Given the description of an element on the screen output the (x, y) to click on. 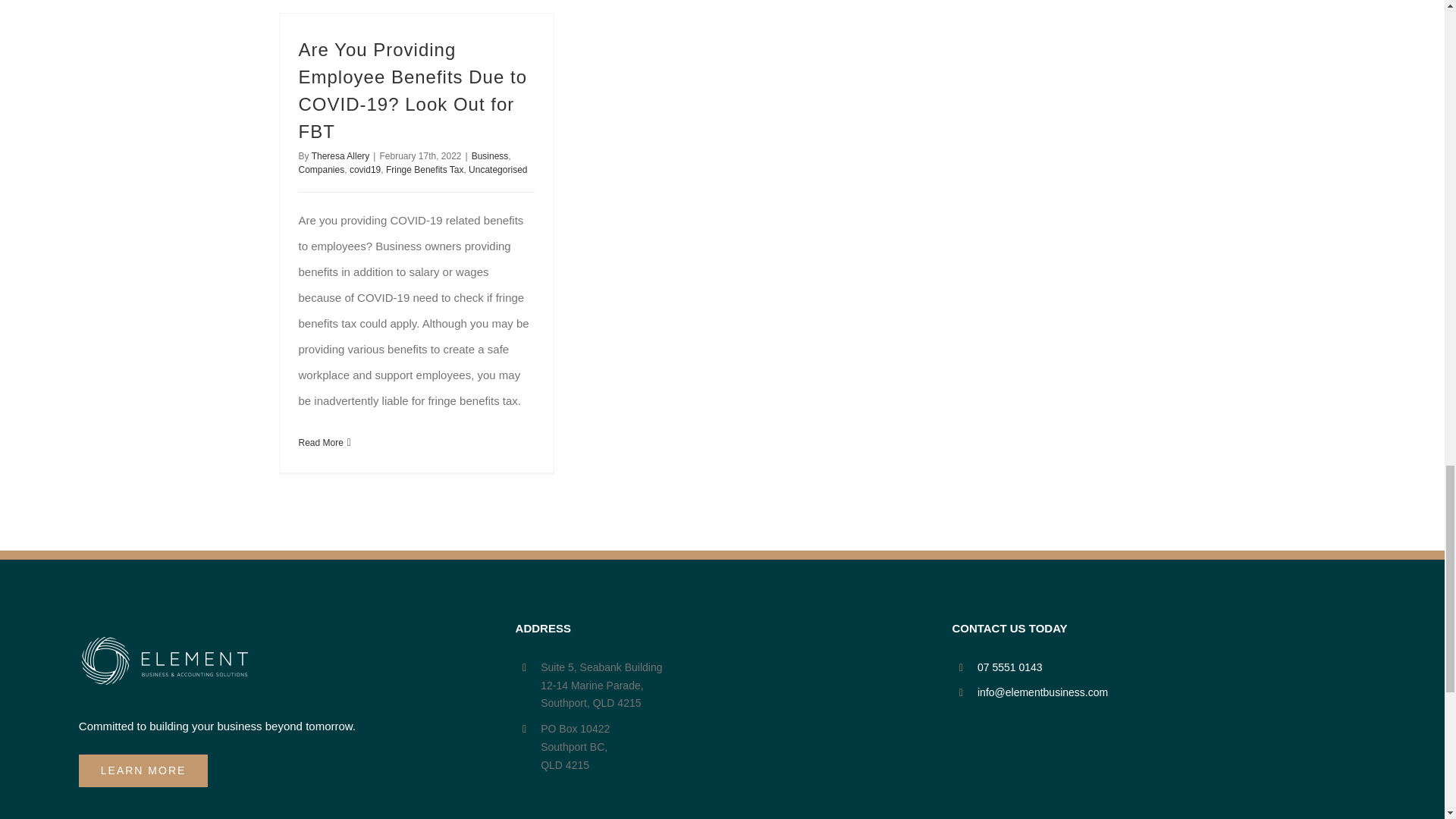
Fringe Benefits Tax (424, 169)
Uncategorised (497, 169)
LEARN MORE (143, 770)
covid19 (364, 169)
Theresa Allery (340, 155)
07 5551 0143 (1170, 668)
Posts by Theresa Allery (340, 155)
Companies (321, 169)
Business (489, 155)
